Given the description of an element on the screen output the (x, y) to click on. 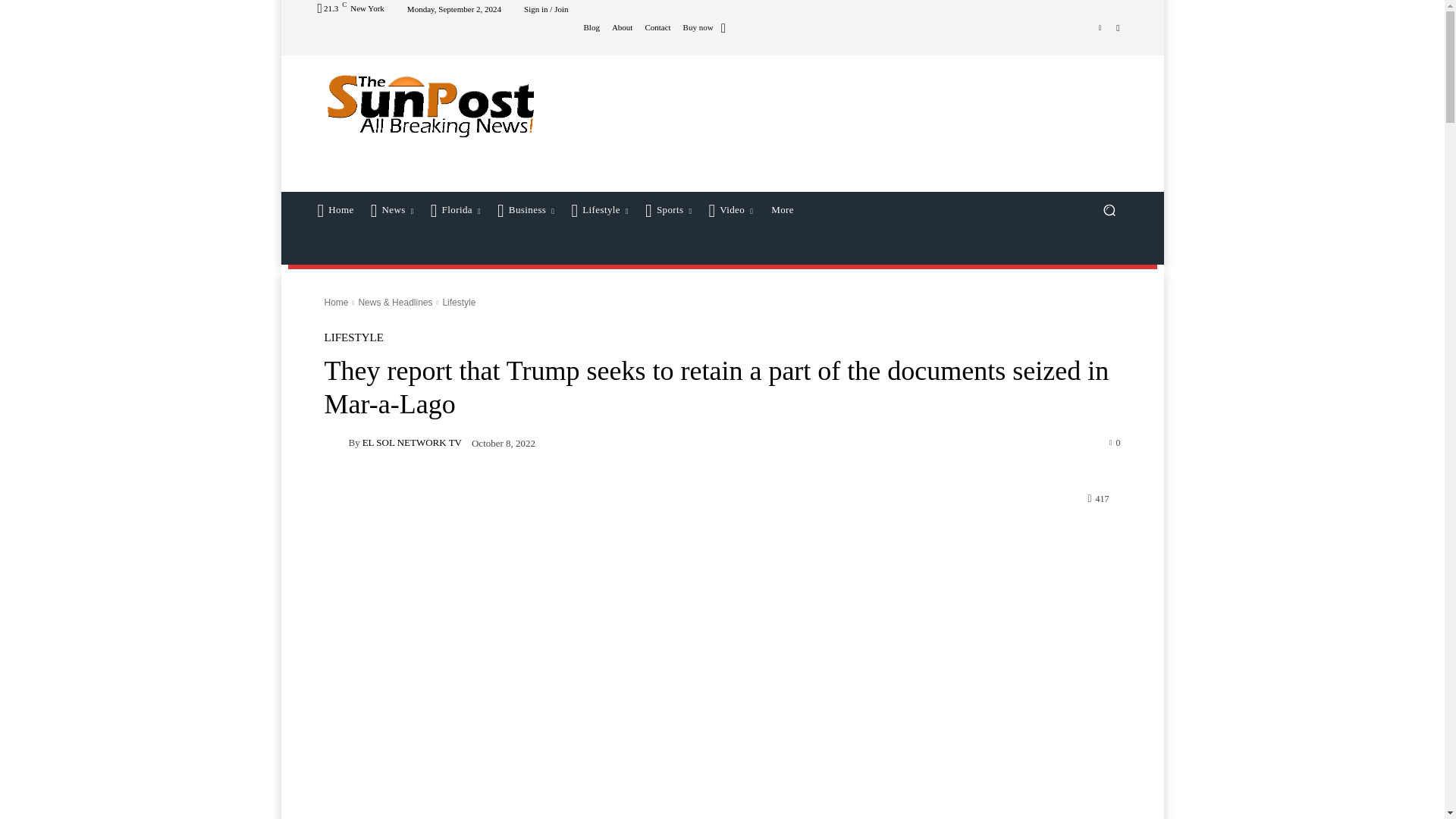
Youtube (1117, 27)
Vimeo (1099, 27)
About (622, 27)
Blog (590, 27)
Contact (657, 27)
